Given the description of an element on the screen output the (x, y) to click on. 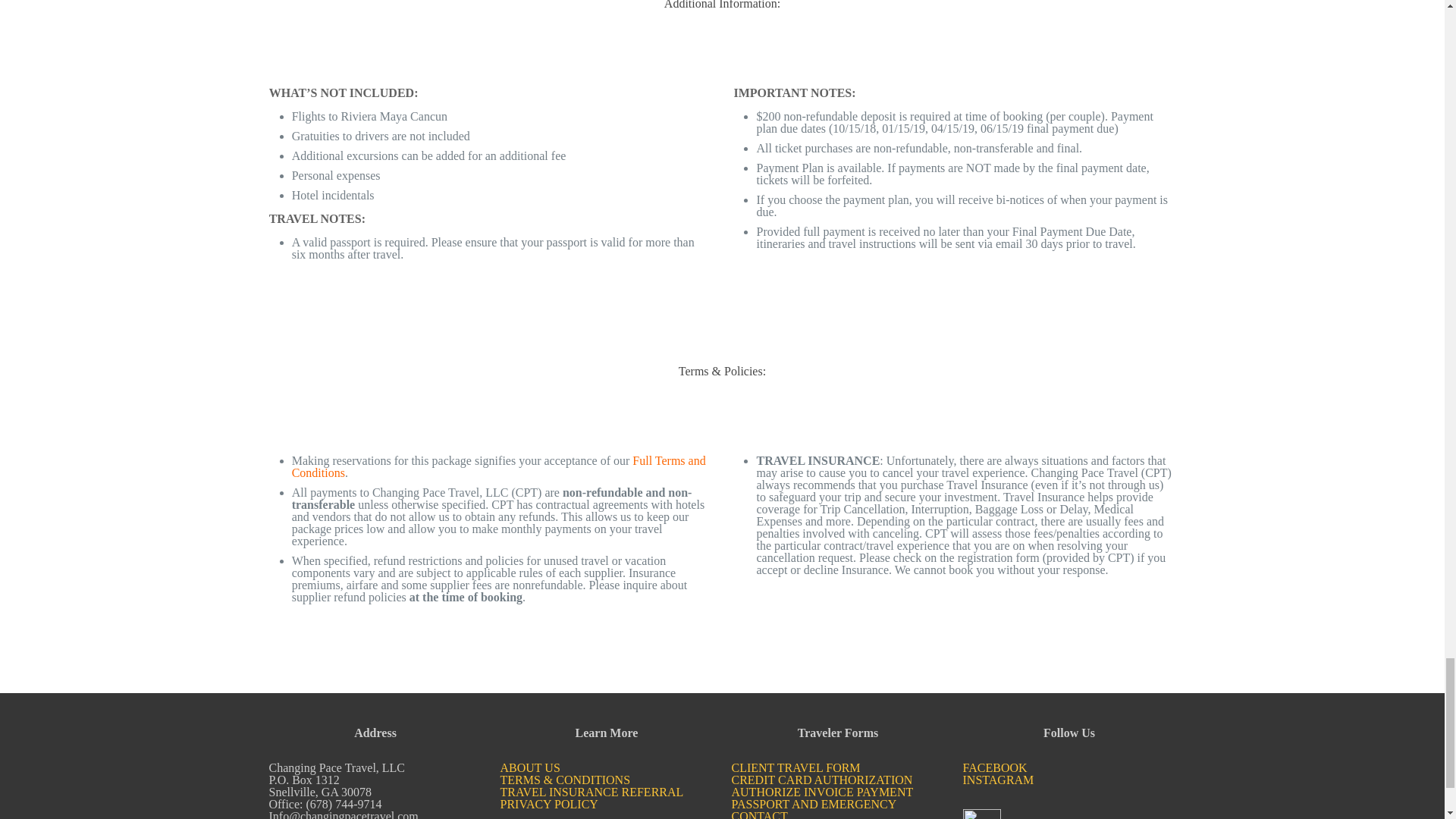
CREDIT CARD AUTHORIZATION (821, 779)
FACEBOOK (994, 767)
AUTHORIZE INVOICE PAYMENT (821, 791)
PRIVACY POLICY (549, 803)
CLIENT TRAVEL FORM (795, 767)
PASSPORT AND EMERGENCY CONTACT (812, 808)
INSTAGRAM (997, 779)
Full Terms and Conditions (499, 466)
TRAVEL INSURANCE REFERRAL (592, 791)
ABOUT US (530, 767)
